Given the description of an element on the screen output the (x, y) to click on. 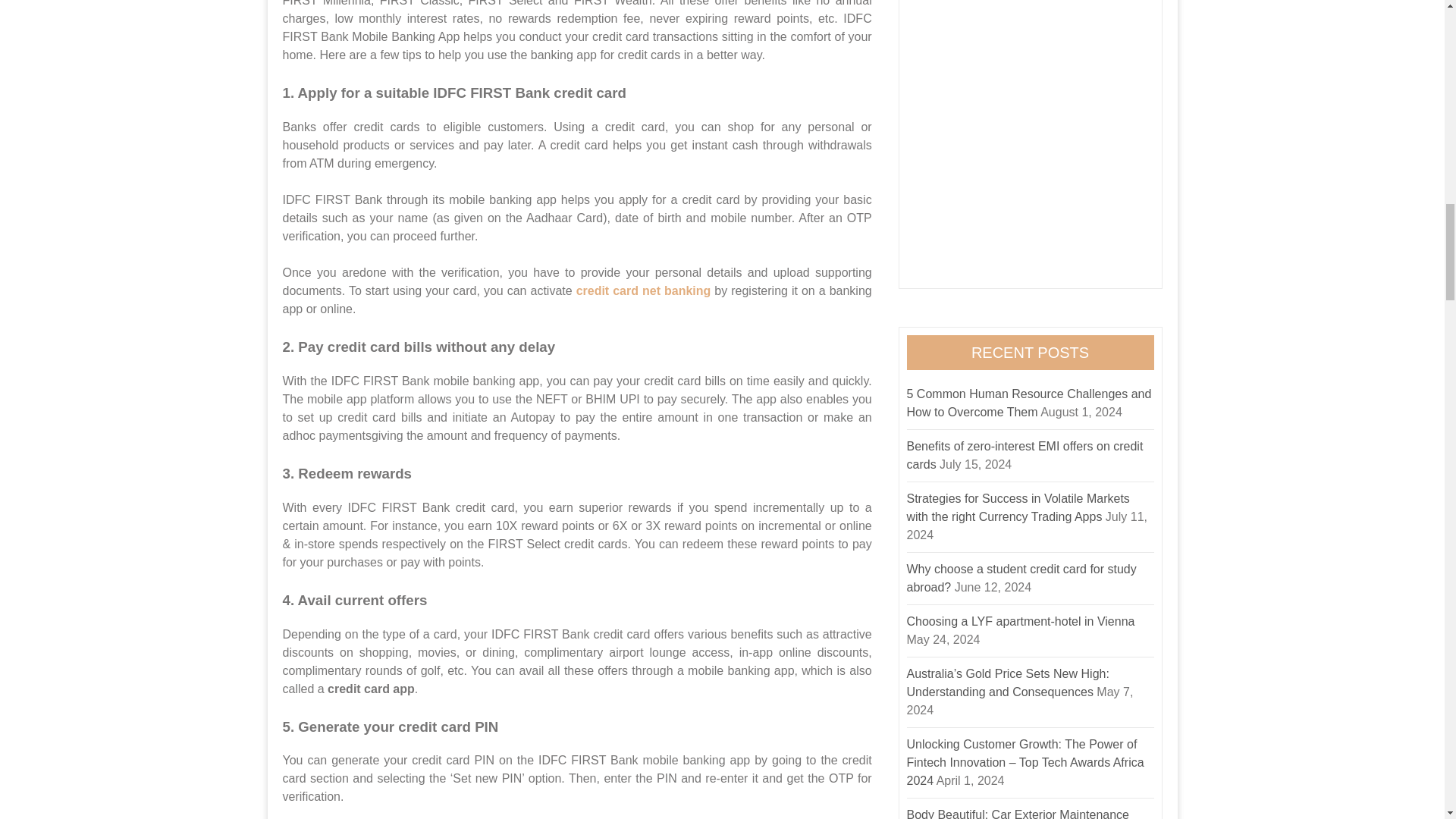
Choosing a LYF apartment-hotel in Vienna (1021, 621)
credit card net banking (643, 290)
Benefits of zero-interest EMI offers on credit cards (1024, 454)
5 Common Human Resource Challenges and How to Overcome Them (1029, 402)
Why choose a student credit card for study abroad? (1022, 577)
